Given the description of an element on the screen output the (x, y) to click on. 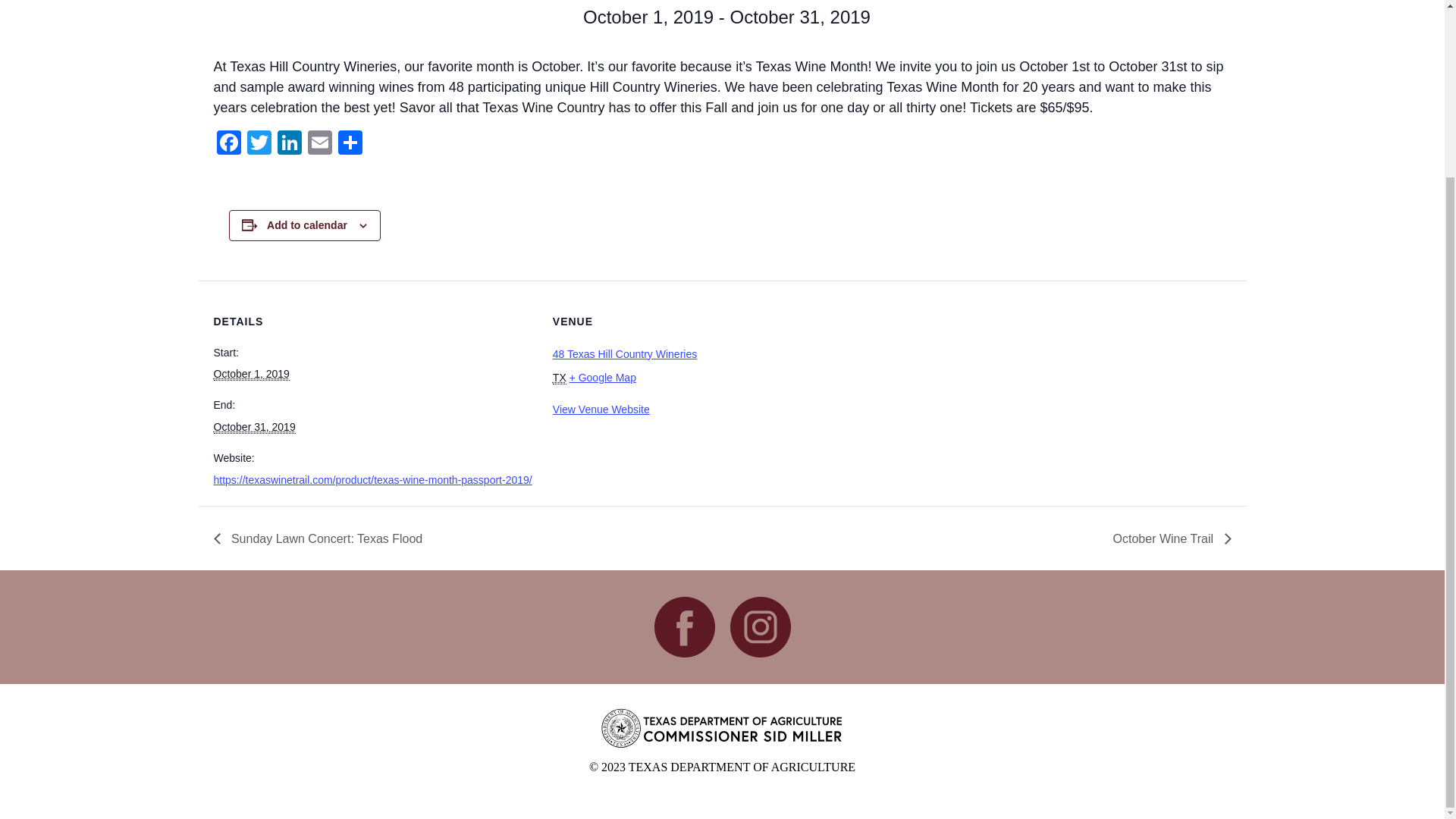
Facebook (229, 144)
Twitter (259, 144)
Email (319, 144)
Facebook (229, 144)
Twitter (259, 144)
48 Texas Hill Country Wineries (625, 354)
Texas (559, 377)
LinkedIn (289, 144)
Click to view a Google Map (602, 377)
2019-10-01 (251, 373)
View Venue Website (601, 409)
Email (319, 144)
Add to calendar (306, 224)
2019-10-31 (254, 427)
Share (349, 144)
